Given the description of an element on the screen output the (x, y) to click on. 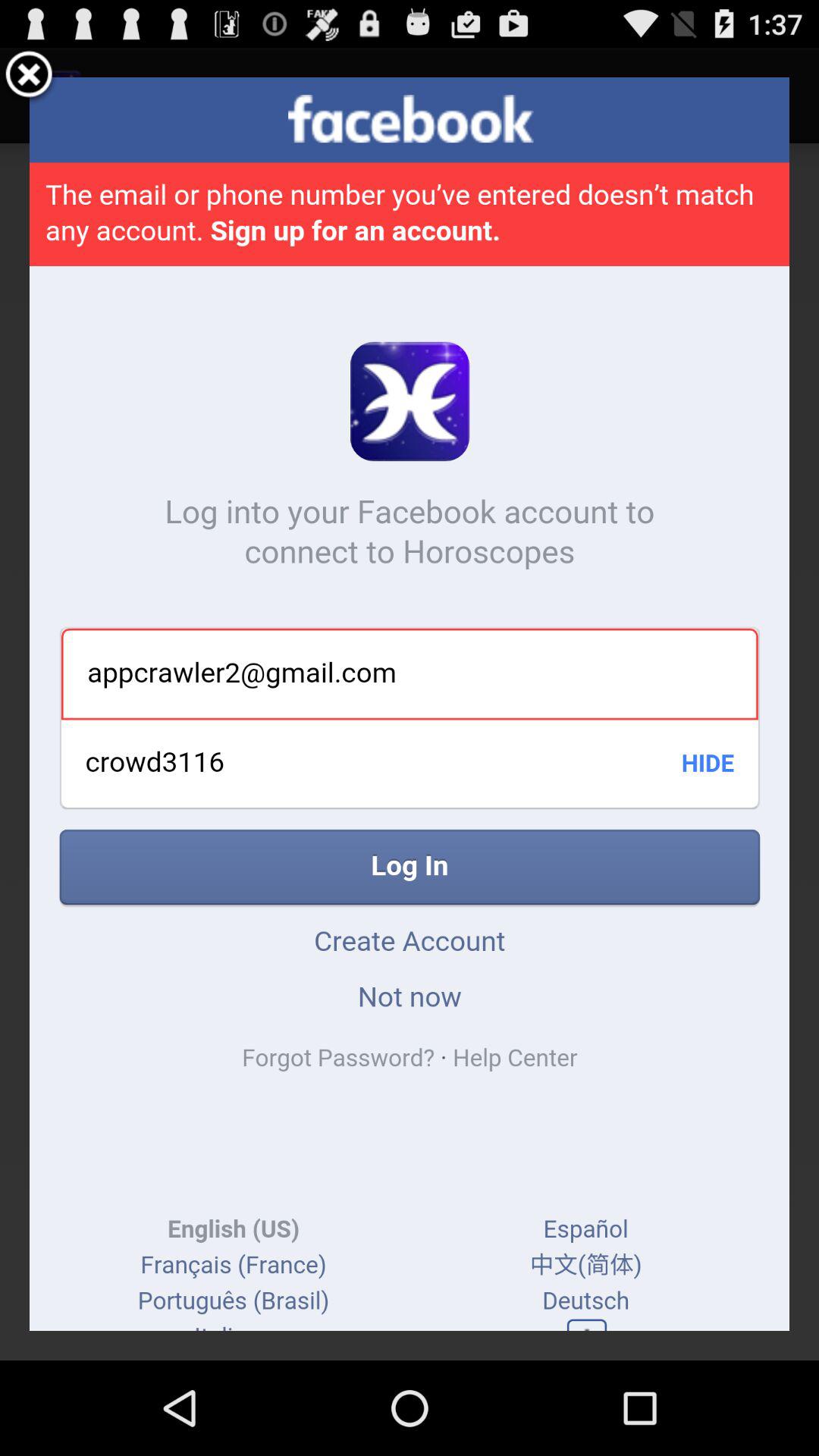
select the item at the top left corner (29, 76)
